Given the description of an element on the screen output the (x, y) to click on. 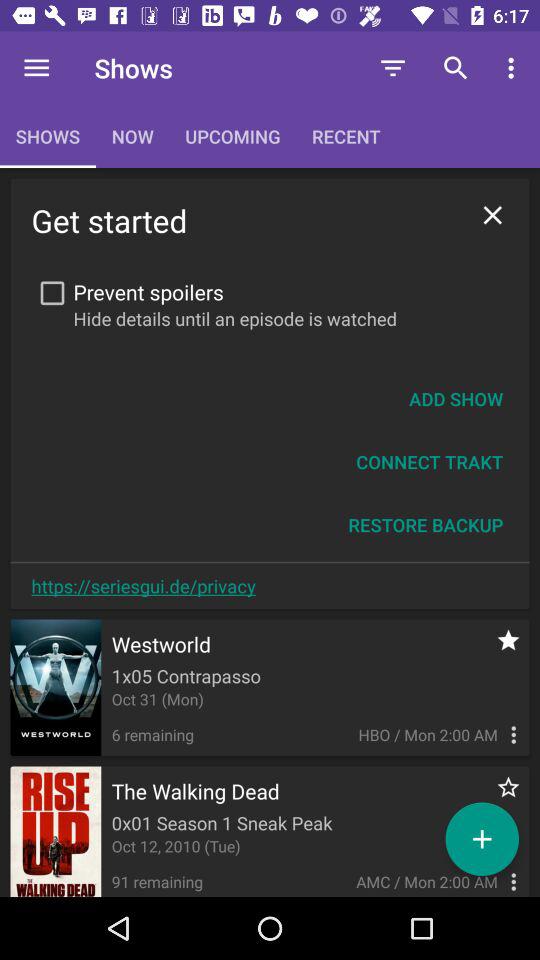
flip until https seriesgui de item (143, 585)
